Given the description of an element on the screen output the (x, y) to click on. 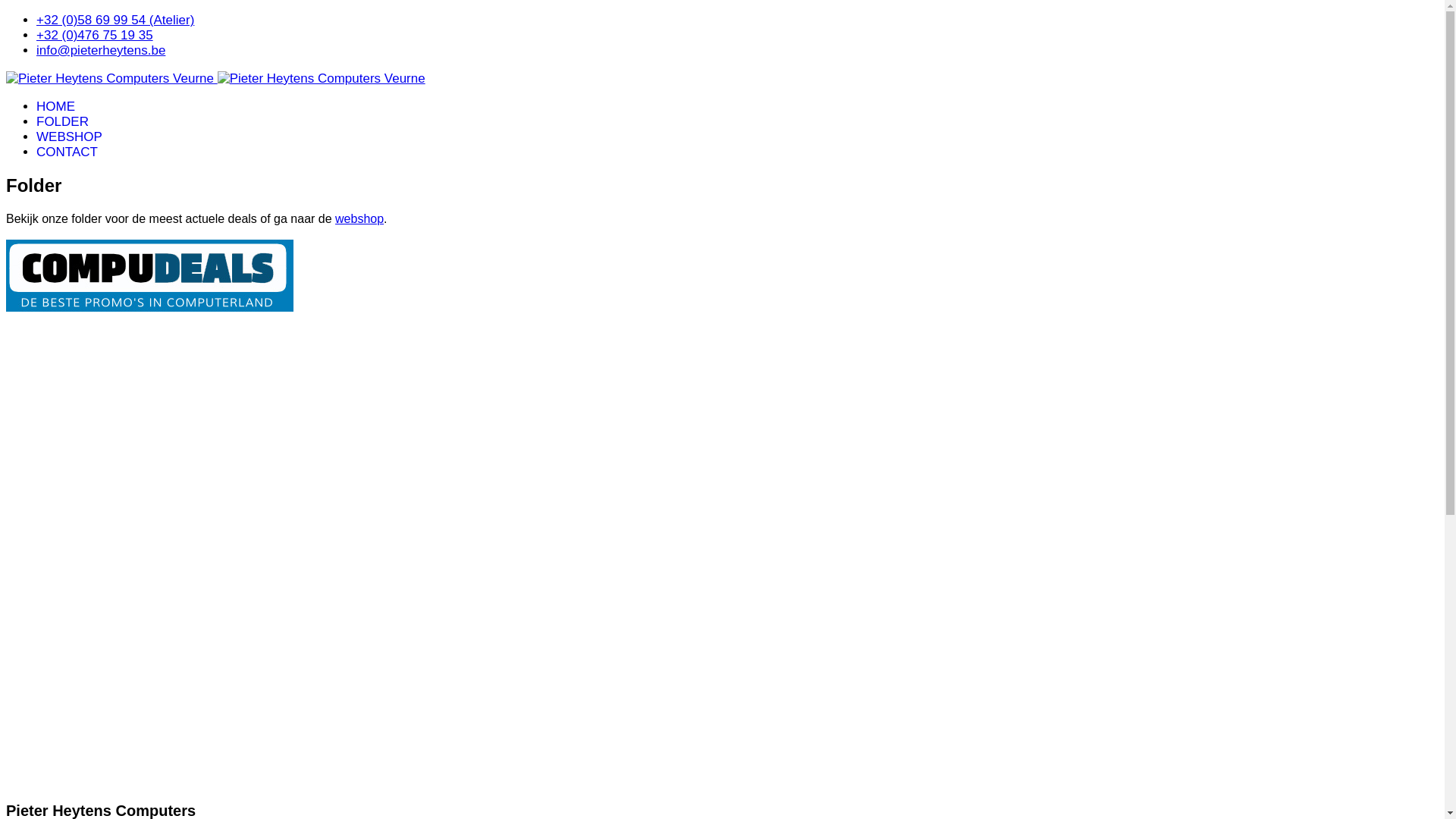
+32 (0)58 69 99 54 (Atelier) Element type: text (115, 19)
info@pieterheytens.be Element type: text (100, 50)
Compudeals folder Element type: hover (722, 555)
+32 (0)476 75 19 35 Element type: text (94, 35)
HOME Element type: text (55, 106)
CONTACT Element type: text (66, 151)
WEBSHOP Element type: text (69, 136)
FOLDER Element type: text (62, 121)
webshop Element type: text (359, 218)
